Given the description of an element on the screen output the (x, y) to click on. 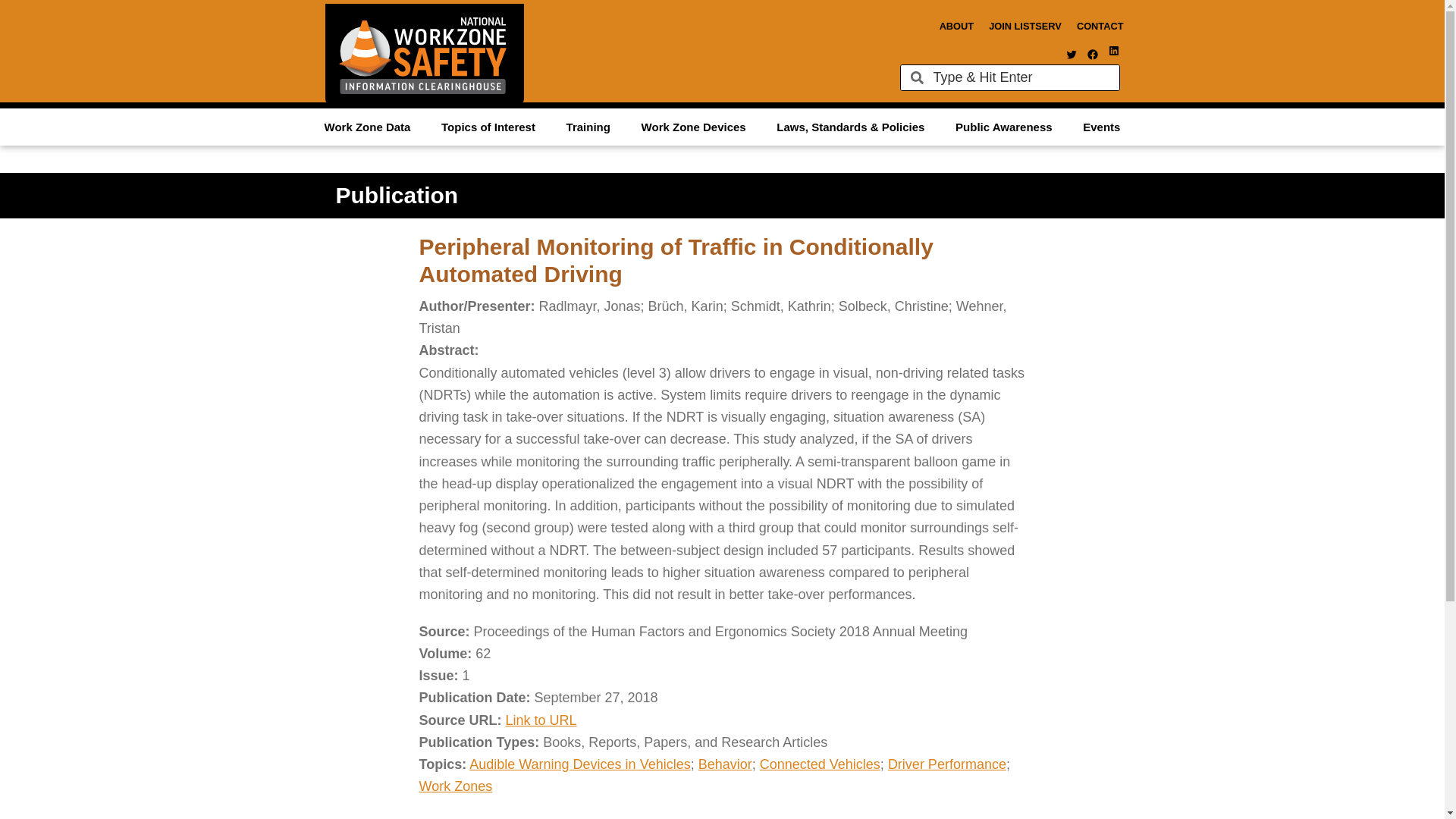
Work Zone Data (367, 126)
Training (587, 126)
Public Awareness (1003, 126)
CONTACT (1100, 25)
ABOUT (956, 25)
LINKEDIN (1112, 50)
JOIN LISTSERV (1024, 25)
Work Zone Devices (693, 126)
Events (1101, 126)
Topics of Interest (488, 126)
Search (1021, 77)
FACEBOOK (1091, 54)
TWITTER (1070, 54)
Link to URL (540, 720)
